Given the description of an element on the screen output the (x, y) to click on. 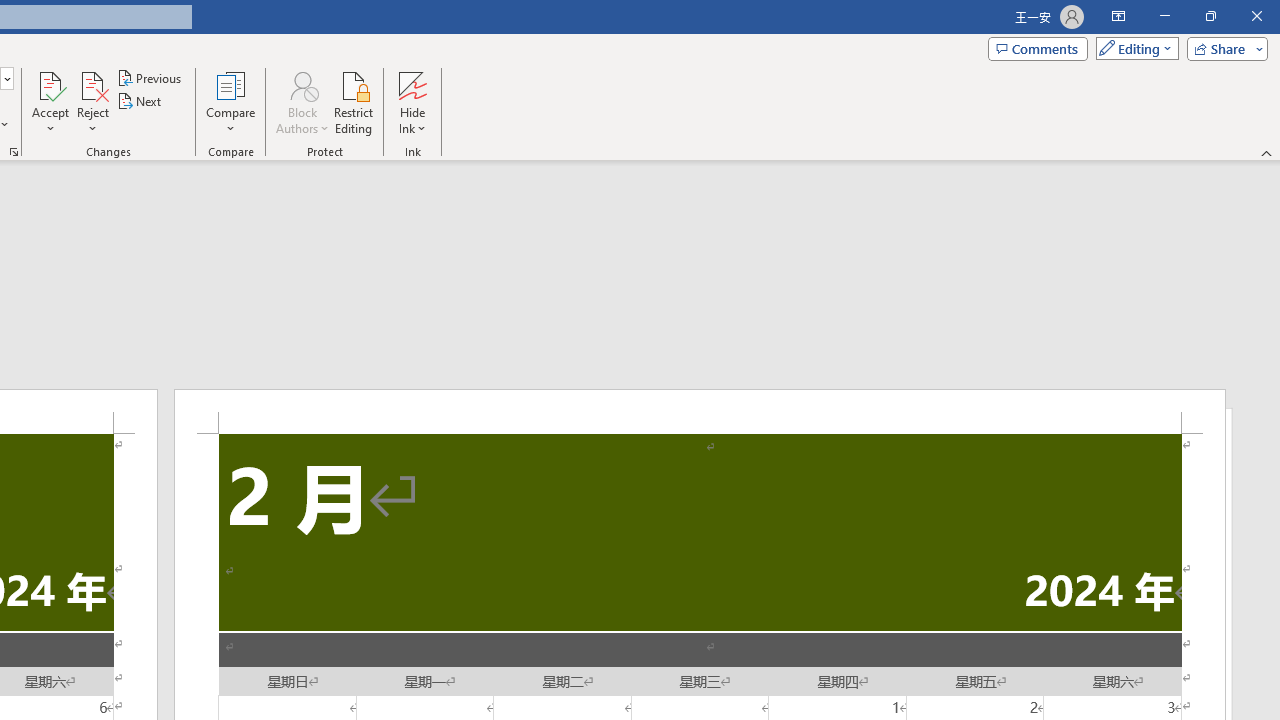
Hide Ink (412, 102)
Accept (50, 102)
Compare (230, 102)
Header -Section 2- (700, 411)
Change Tracking Options... (13, 151)
Next (140, 101)
Restrict Editing (353, 102)
Reject and Move to Next (92, 84)
Accept and Move to Next (50, 84)
